Given the description of an element on the screen output the (x, y) to click on. 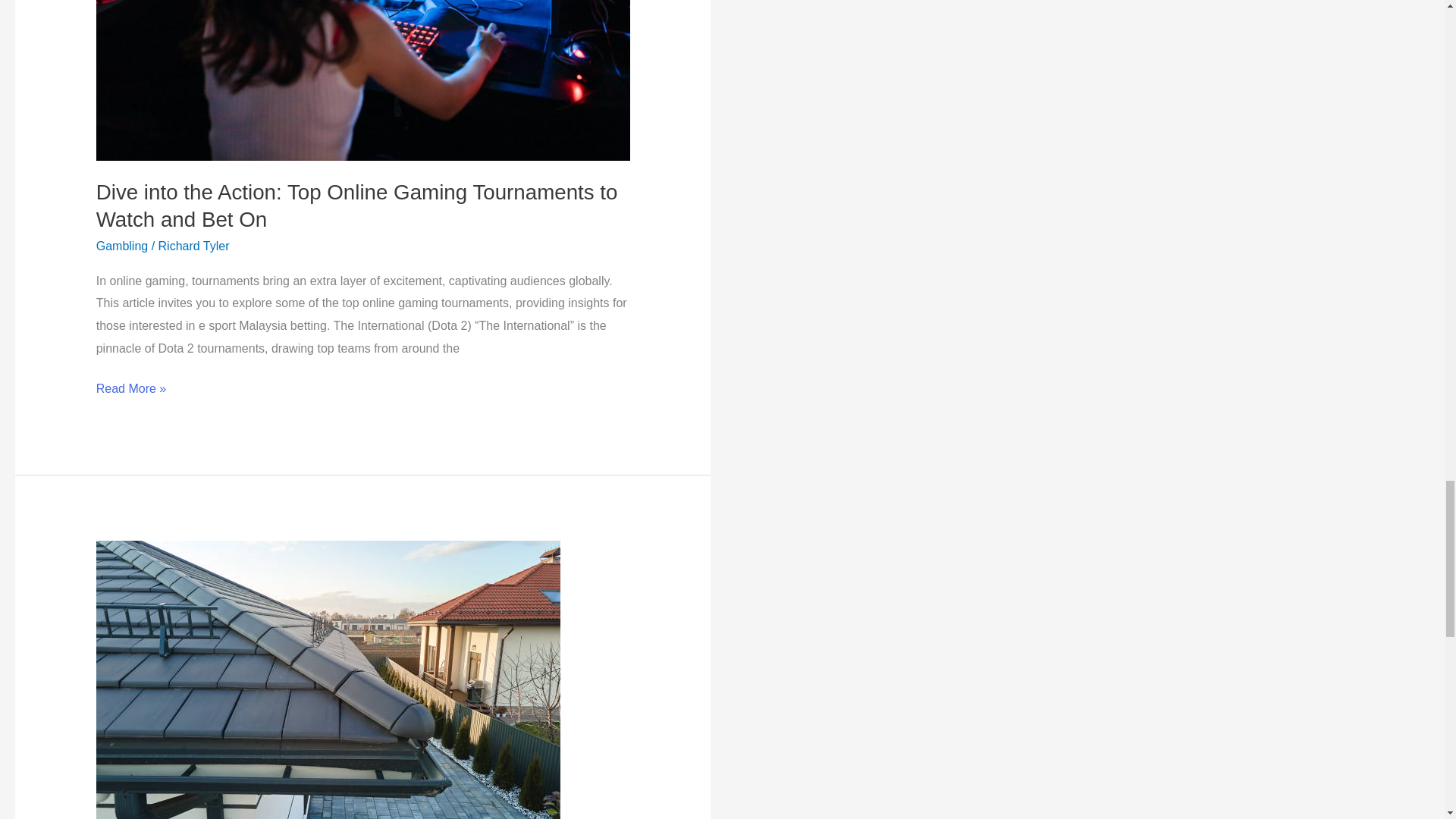
Gambling (122, 245)
Richard Tyler (194, 245)
View all posts by Richard Tyler (194, 245)
